Given the description of an element on the screen output the (x, y) to click on. 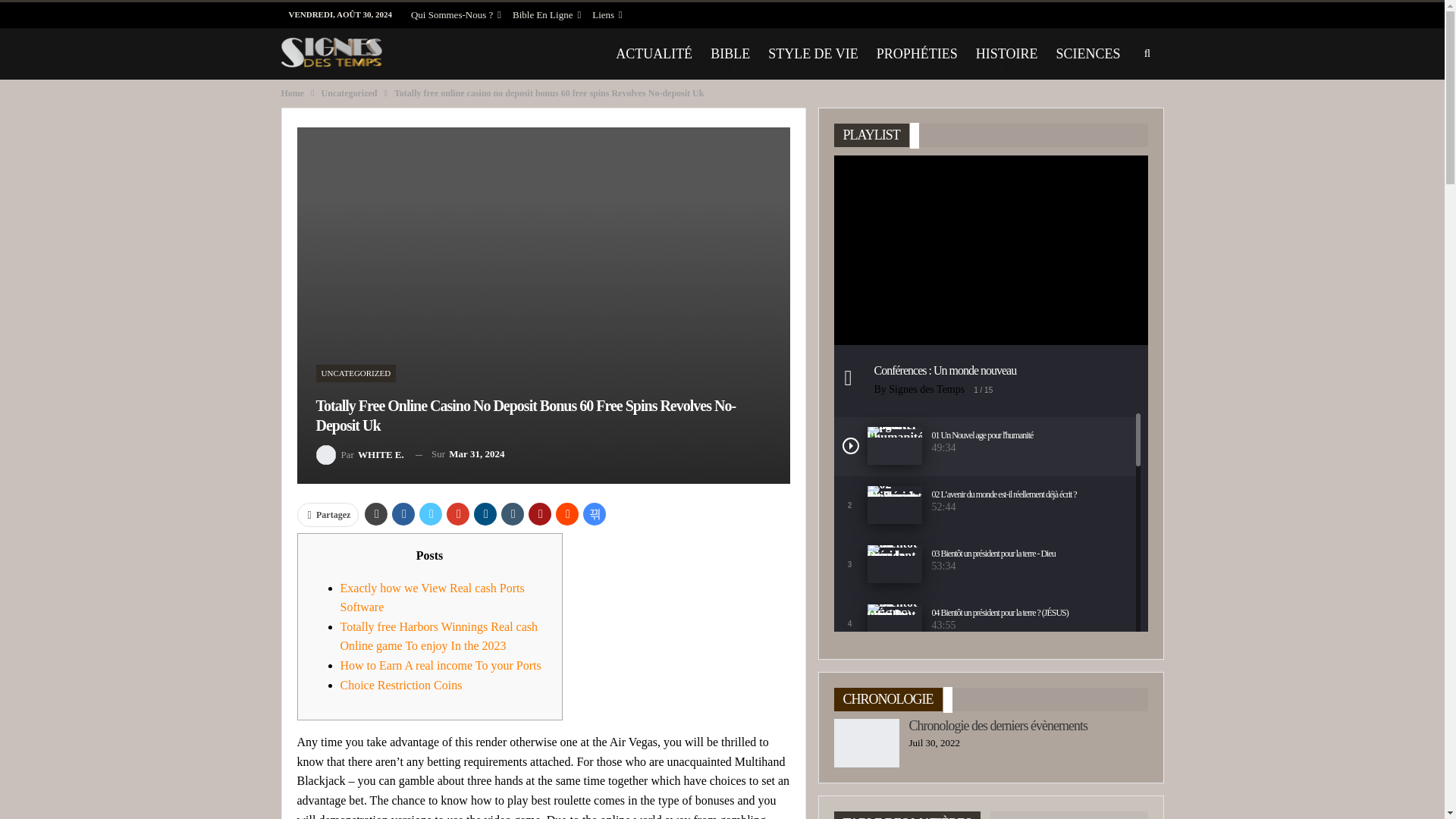
Liens (607, 14)
BIBLE (729, 53)
Qui Sommes-Nous ? (455, 14)
Bible En Ligne (546, 14)
